Given the description of an element on the screen output the (x, y) to click on. 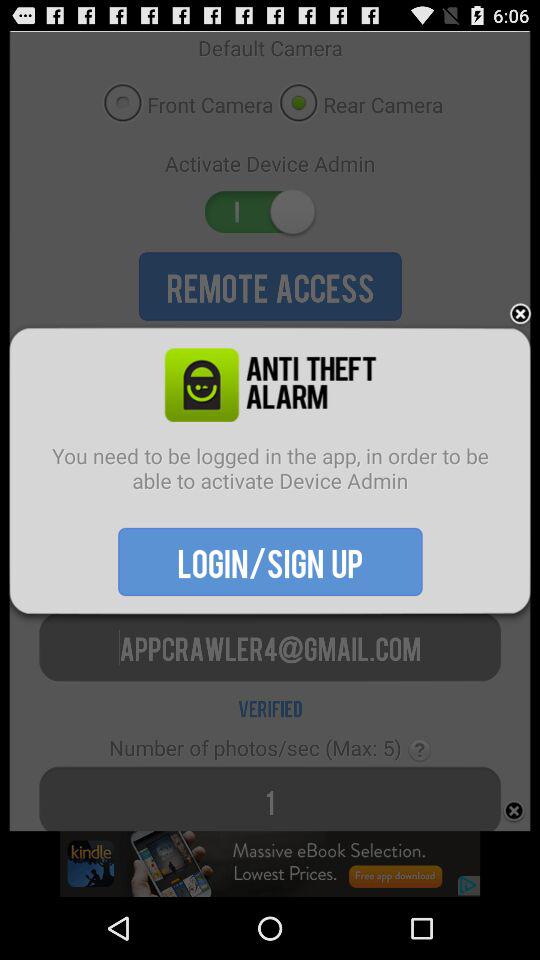
turn off the item below the you need to icon (270, 561)
